Given the description of an element on the screen output the (x, y) to click on. 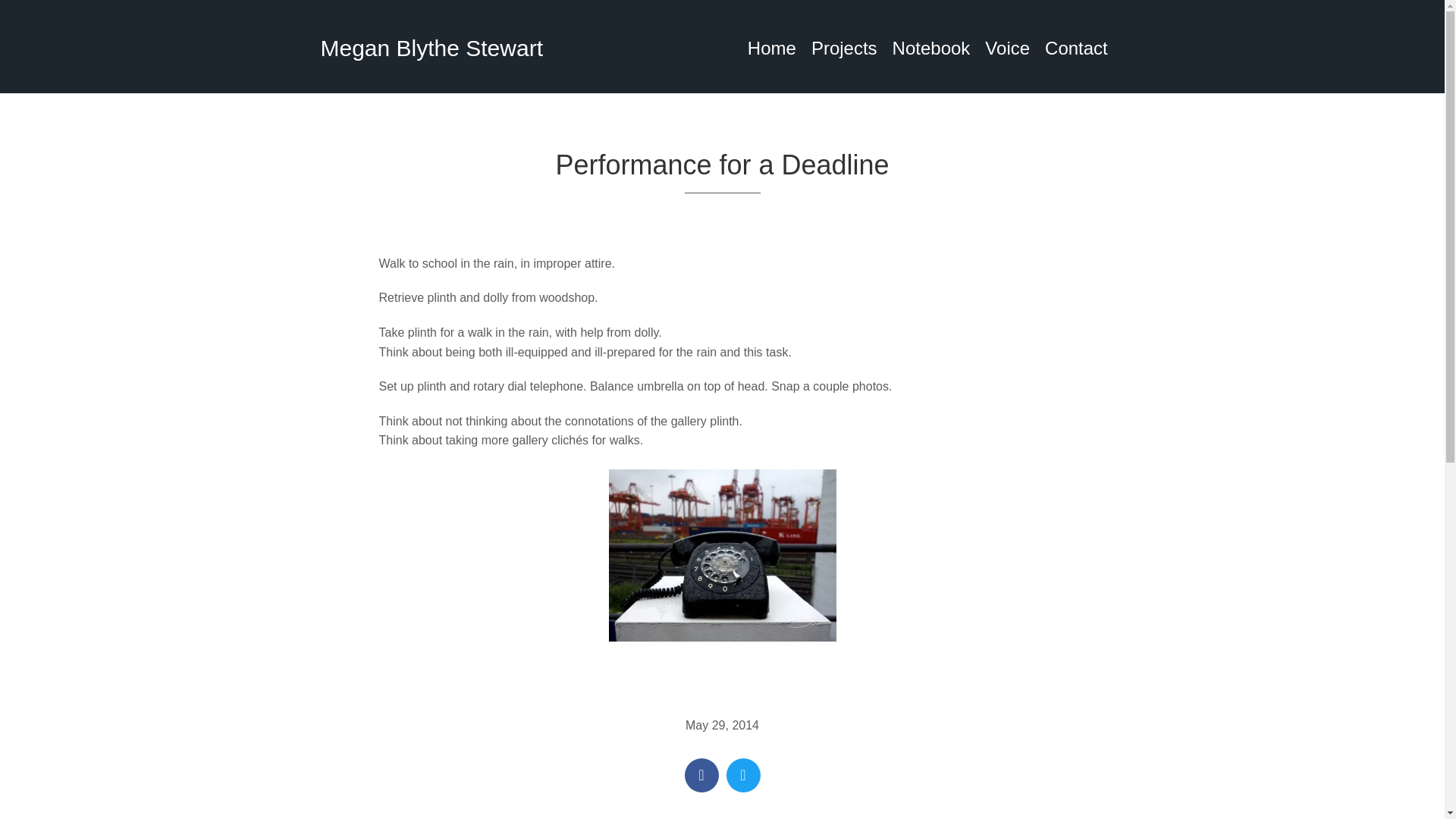
Home (771, 48)
Contact (1075, 48)
Voice (1006, 48)
Projects (844, 48)
Notebook (931, 48)
Megan Blythe Stewart (430, 48)
